Given the description of an element on the screen output the (x, y) to click on. 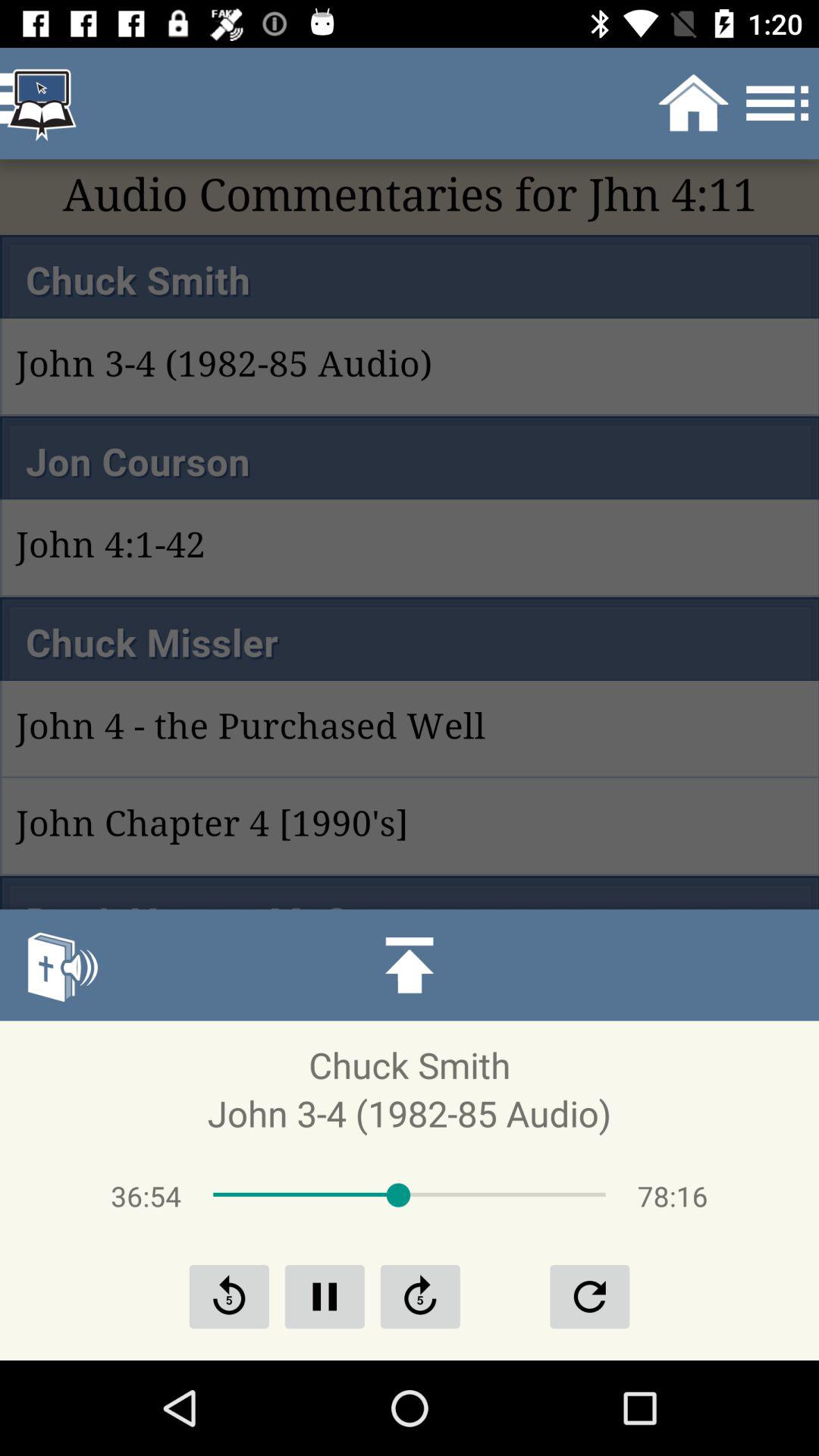
tap icon on the left (61, 964)
